Given the description of an element on the screen output the (x, y) to click on. 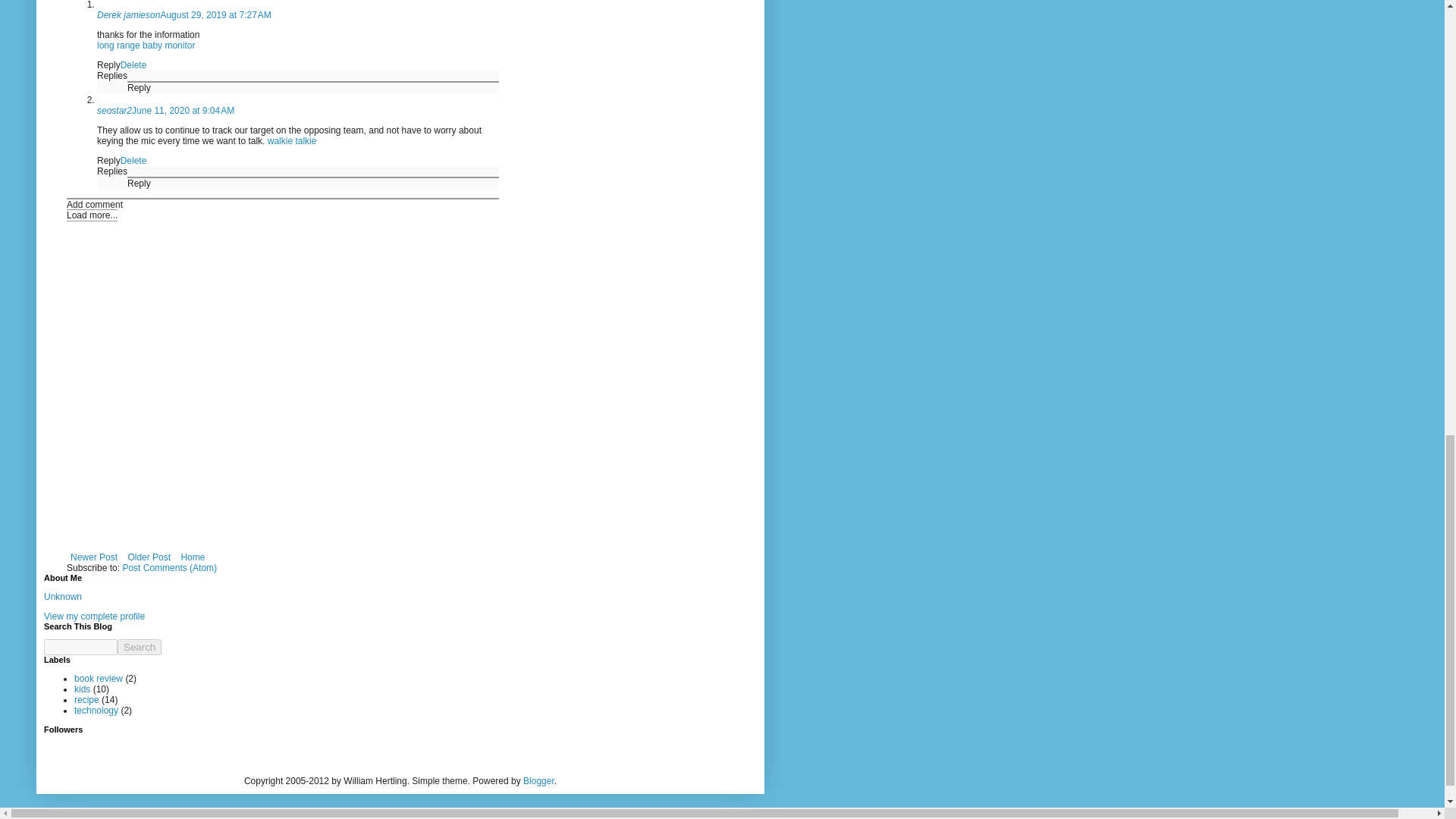
long range baby monitor (146, 45)
Search (139, 647)
Home (192, 556)
Older Post (148, 556)
Reply (108, 64)
Older Post (148, 556)
Newer Post (93, 556)
Newer Post (93, 556)
Reply (139, 183)
search (80, 647)
walkie talkie (292, 140)
search (139, 647)
Derek jamieson (128, 14)
Reply (139, 87)
